Given the description of an element on the screen output the (x, y) to click on. 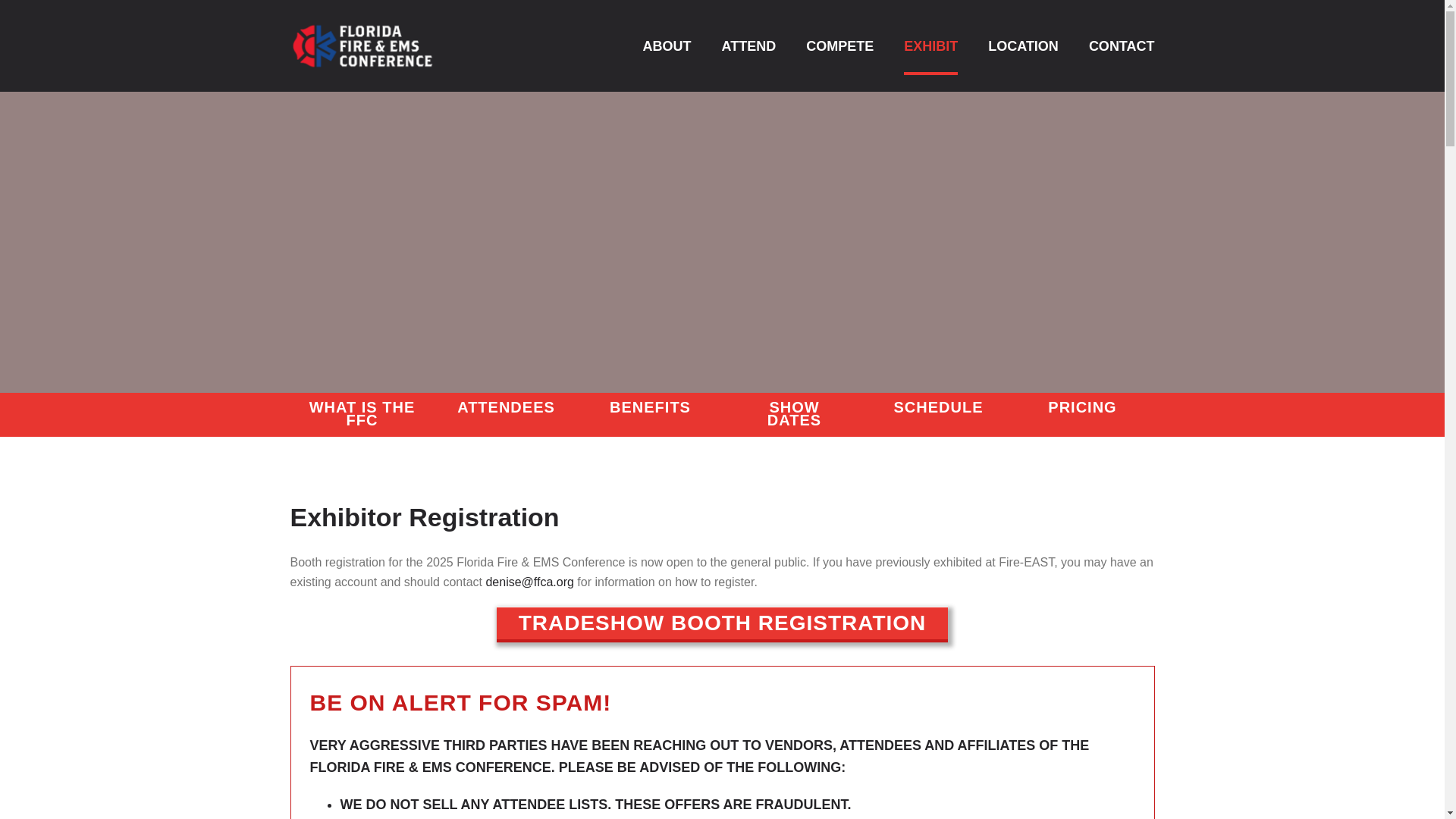
EXHIBIT (931, 47)
COMPETE (839, 47)
CONTACT (1121, 47)
TRADESHOW BOOTH REGISTRATION (722, 622)
ATTENDEES (505, 408)
LOCATION (1023, 47)
WHAT IS THE FFC (361, 414)
SCHEDULE (938, 408)
PRICING (1082, 408)
SHOW DATES (794, 414)
